Given the description of an element on the screen output the (x, y) to click on. 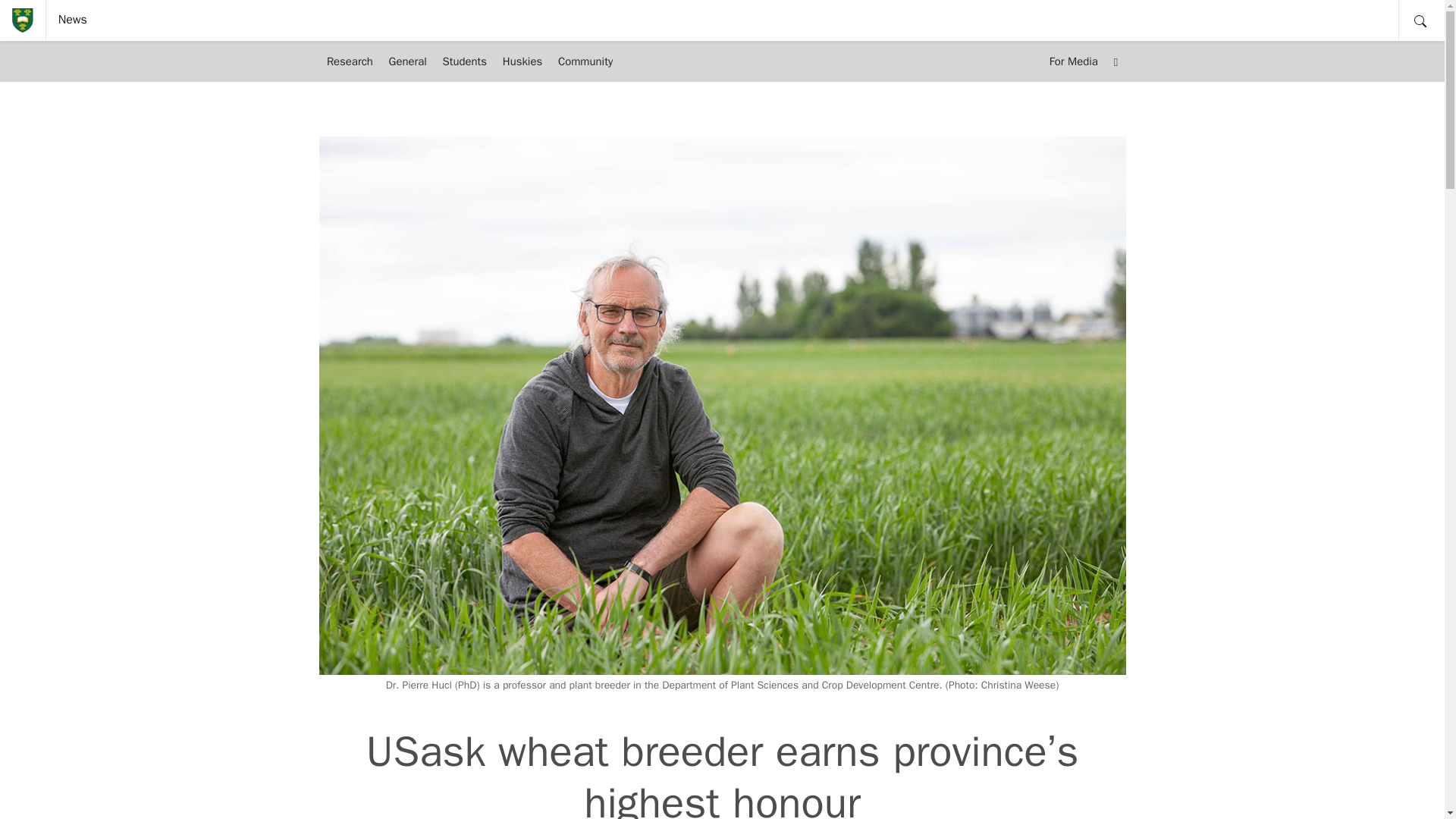
Community (585, 60)
News (72, 20)
General (406, 60)
Students (464, 60)
Huskies (522, 60)
Research (349, 60)
For Media (1073, 60)
